Given the description of an element on the screen output the (x, y) to click on. 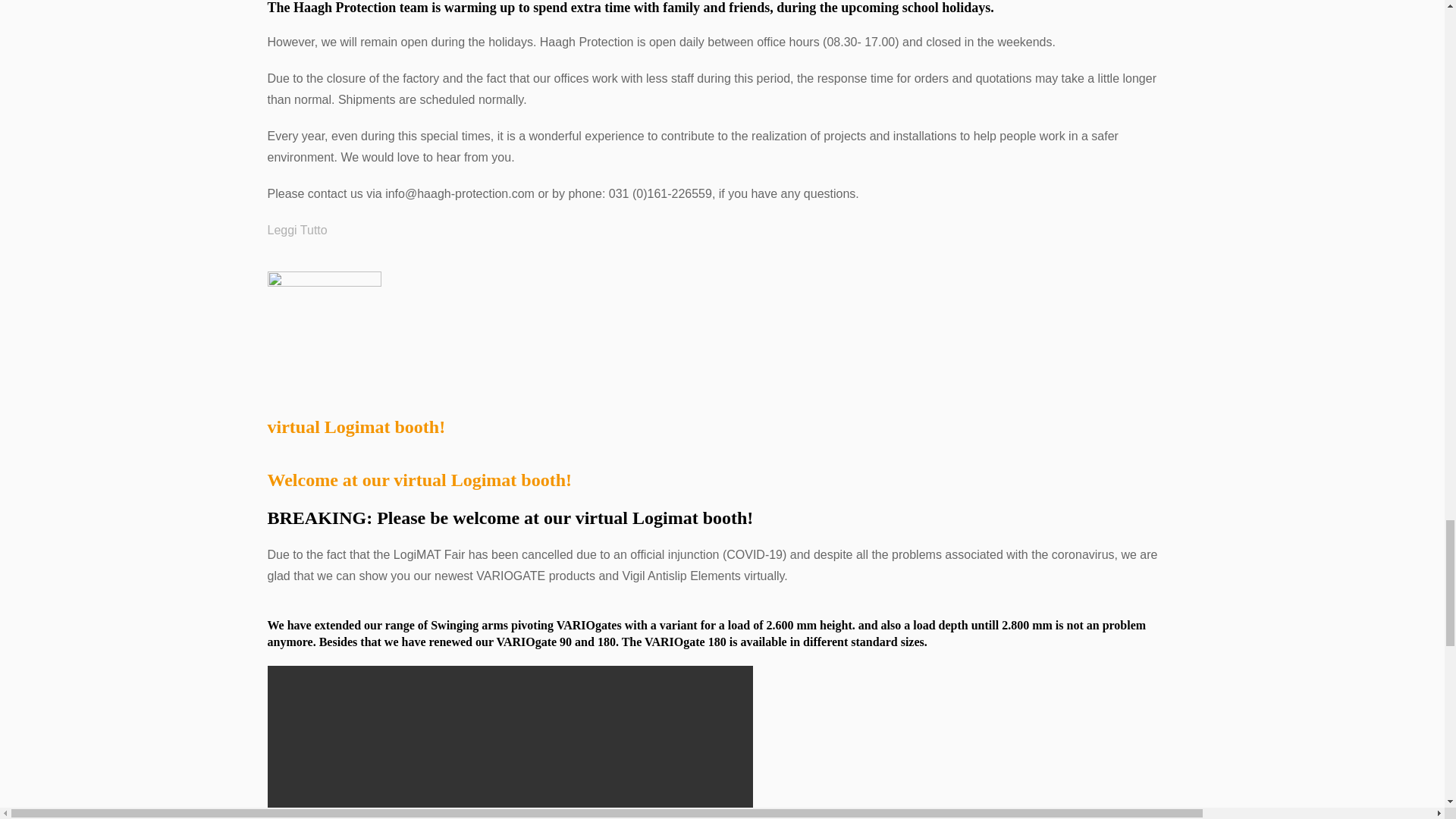
Summer Holidays (296, 230)
virtual Logimat booth! (355, 426)
virtual Logimat booth! (323, 327)
